Given the description of an element on the screen output the (x, y) to click on. 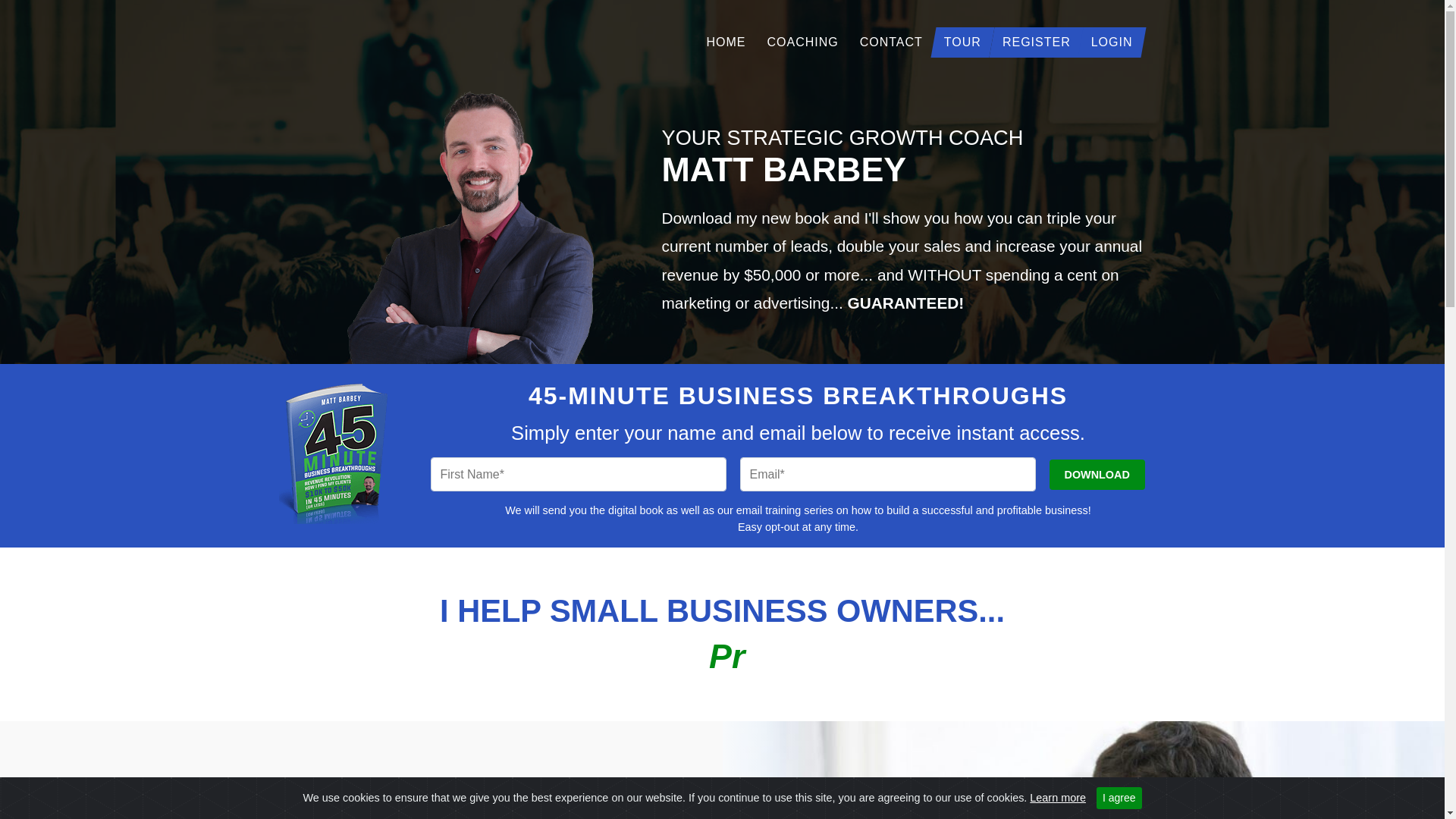
REGISTER Element type: text (1036, 42)
COACHING Element type: text (802, 42)
HOME Element type: text (725, 42)
TOUR Element type: text (962, 42)
CONTACT Element type: text (891, 42)
I agree Element type: text (1119, 798)
DOWNLOAD Element type: text (1097, 474)
LOGIN Element type: text (1111, 42)
Learn more Element type: text (1057, 797)
